Given the description of an element on the screen output the (x, y) to click on. 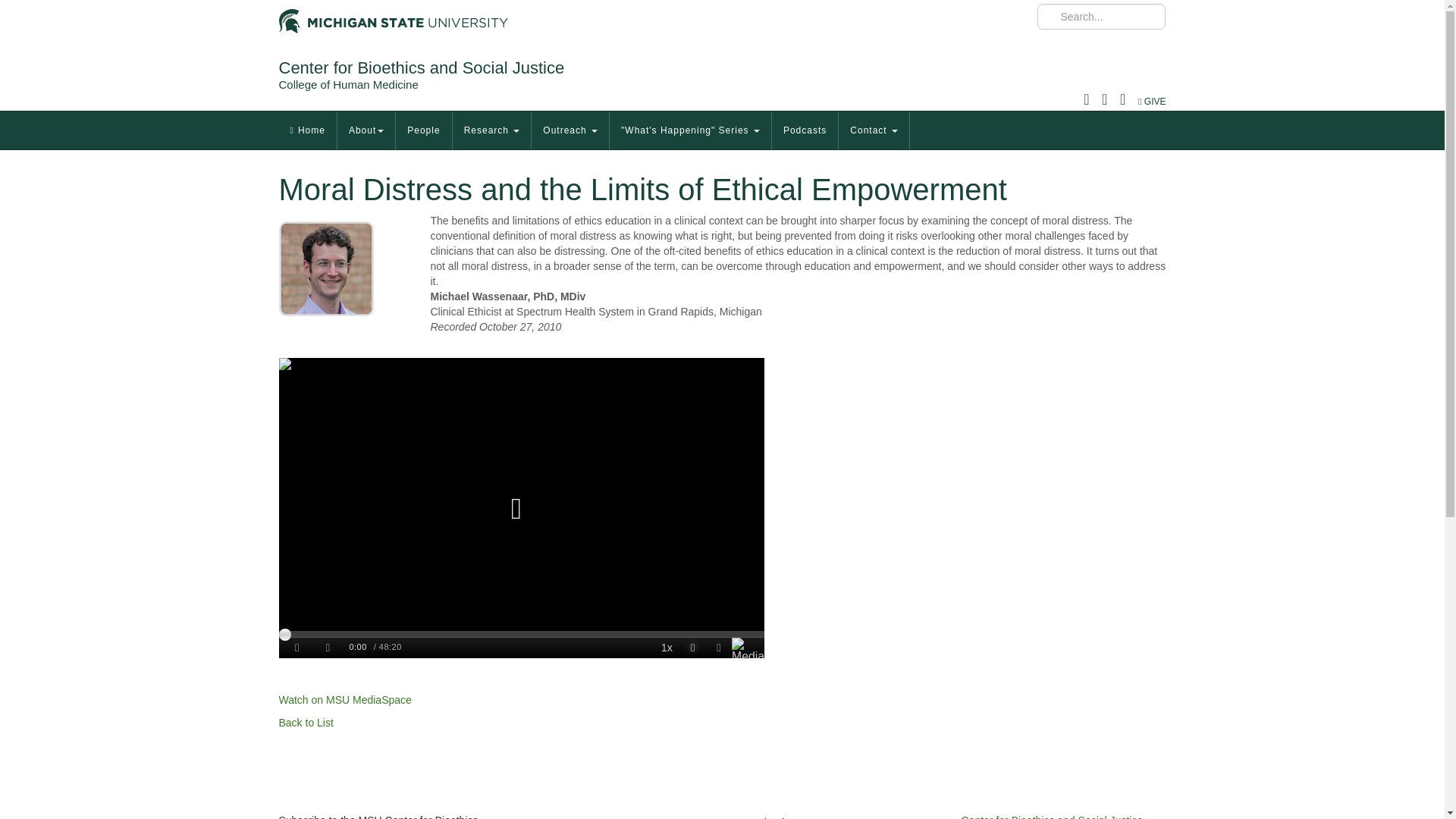
Center for Bioethics and Social Justice (421, 67)
College of Human Medicine website (349, 82)
Recorded Webinars (306, 721)
Visit our Facebook page (760, 817)
Give Today (1152, 101)
GIVE (1152, 101)
College of Human Medicine (349, 82)
Contact Us - MSU Center for Bioethics and Social Justice (1051, 816)
